Given the description of an element on the screen output the (x, y) to click on. 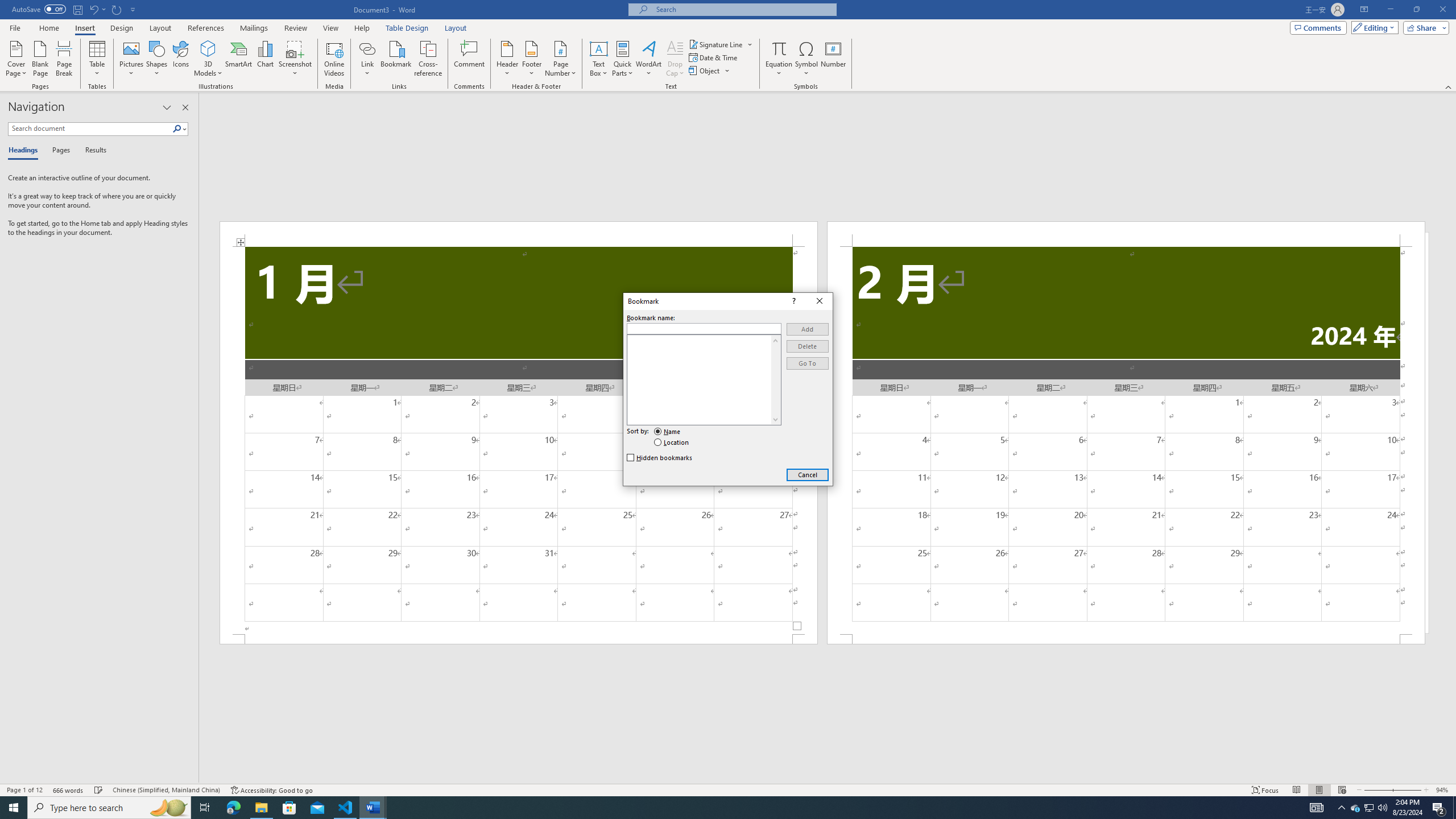
Shapes (156, 58)
Cover Page (16, 58)
3D Models (208, 48)
Footer -Section 1- (518, 638)
Header -Section 1- (518, 233)
Quick Parts (622, 58)
AutoSave (38, 9)
Line down (775, 419)
Close pane (185, 107)
Page Number Page 1 of 12 (24, 790)
Undo Increase Indent (96, 9)
